Given the description of an element on the screen output the (x, y) to click on. 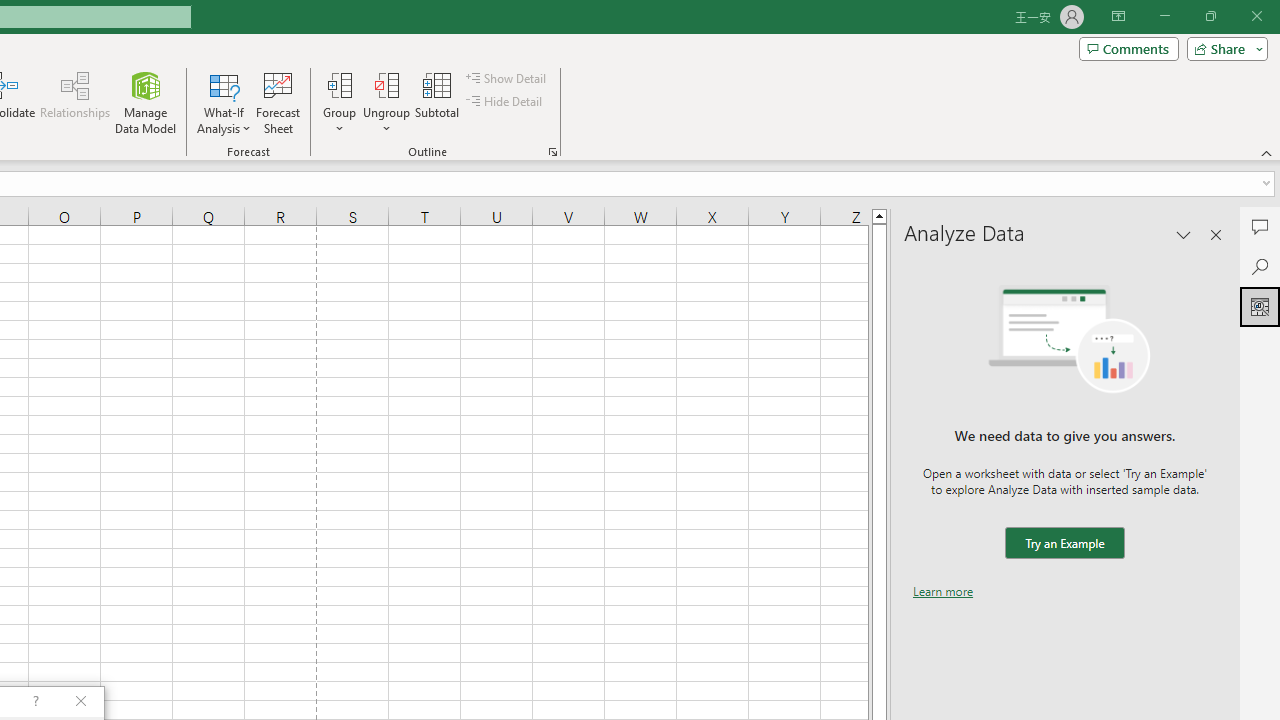
Relationships (75, 102)
Group and Outline Settings (552, 151)
We need data to give you answers. Try an Example (1064, 543)
Subtotal (437, 102)
Forecast Sheet (278, 102)
Manage Data Model (145, 102)
